Given the description of an element on the screen output the (x, y) to click on. 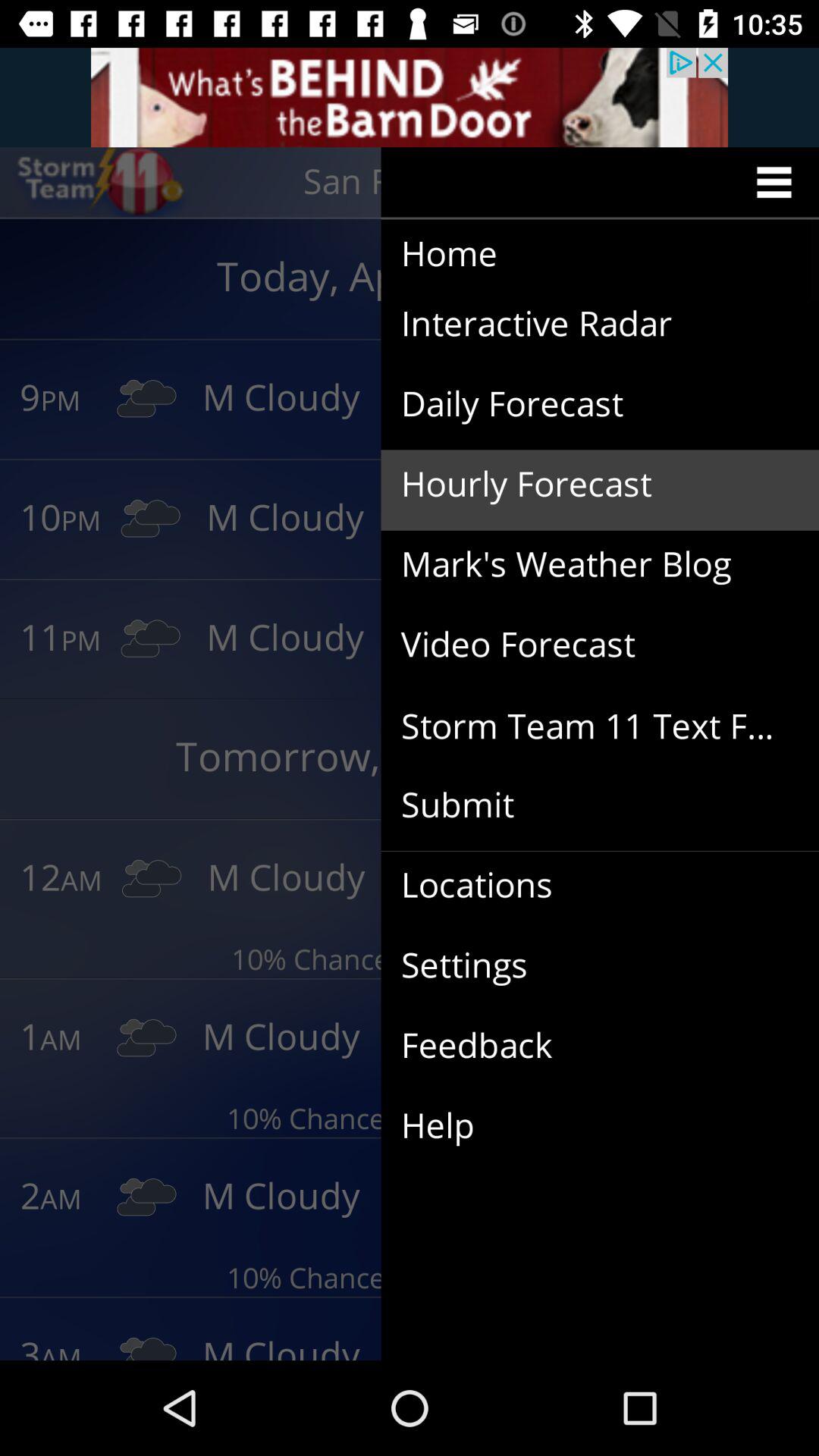
click on the cloud icon which is beside 11pm (150, 638)
click on the menu icon  which is on the top right corner (778, 181)
